Given the description of an element on the screen output the (x, y) to click on. 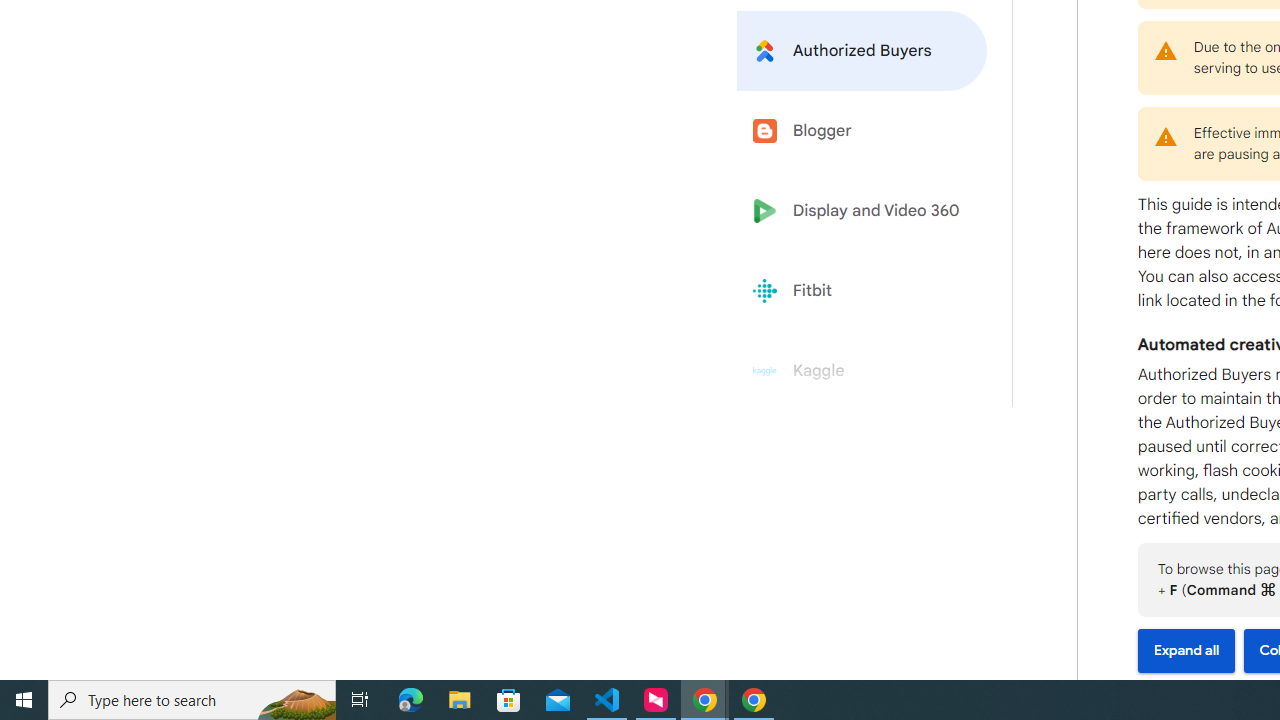
Display and Video 360 (862, 211)
Fitbit (862, 291)
Expand all (1186, 651)
Kaggle (862, 371)
Display and Video 360 (862, 211)
Fitbit (862, 291)
Learn more about Authorized Buyers (862, 50)
Blogger (862, 130)
Blogger (862, 130)
Kaggle (862, 371)
Learn more about Authorized Buyers (862, 50)
